Given the description of an element on the screen output the (x, y) to click on. 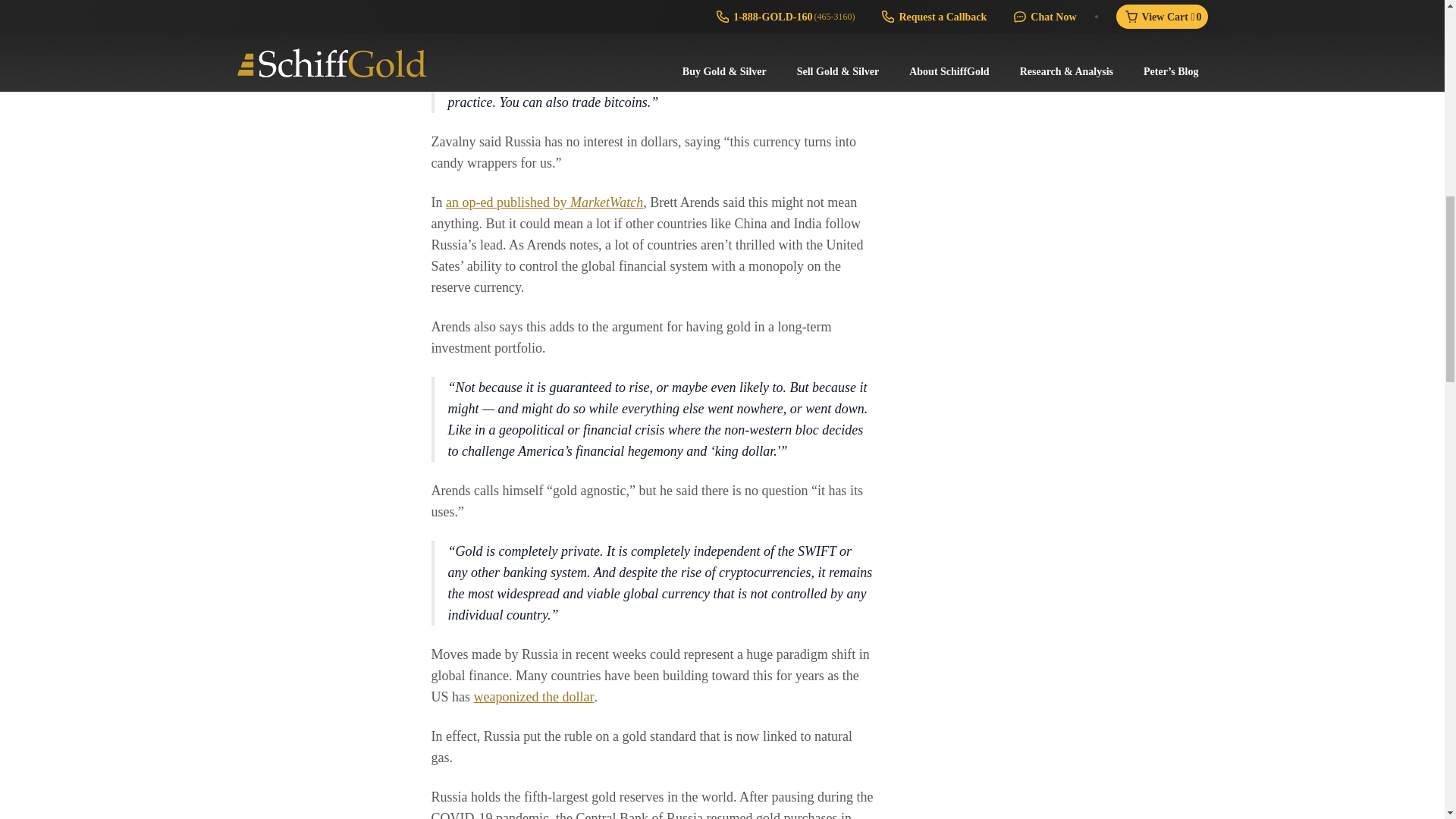
an op-ed published by MarketWatch (544, 201)
weaponized the dollar (534, 696)
